Given the description of an element on the screen output the (x, y) to click on. 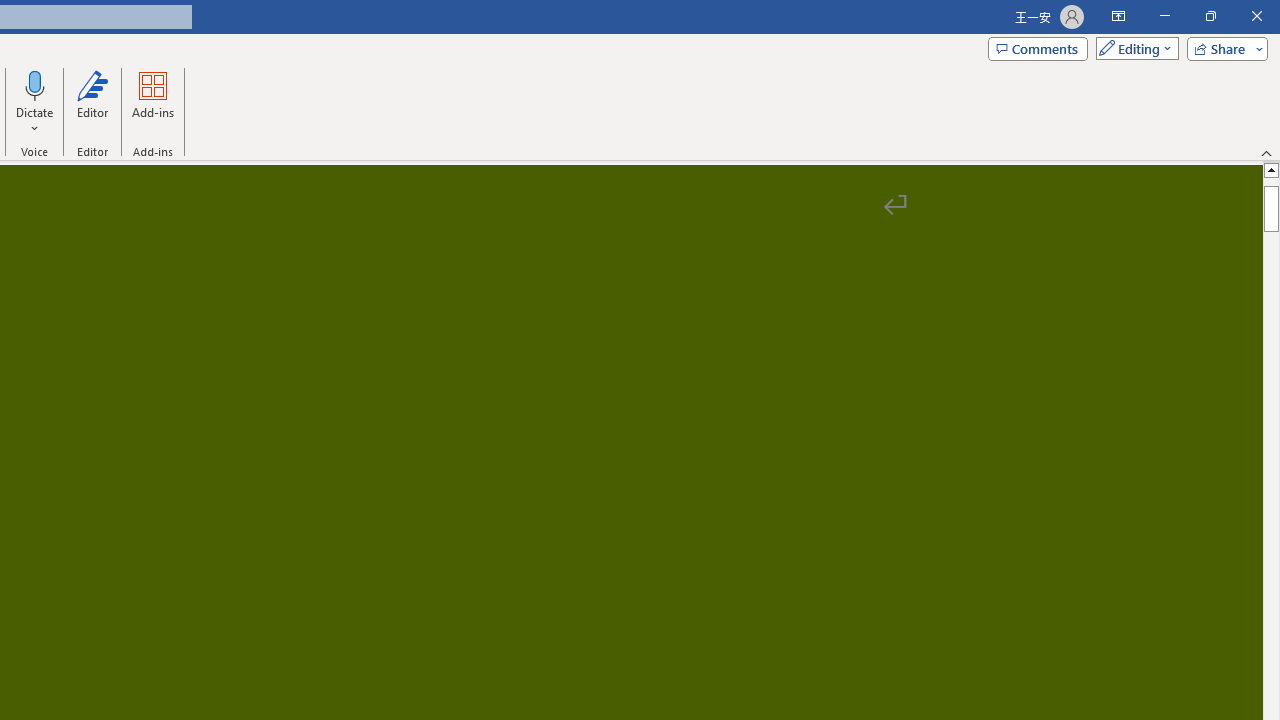
Page up (1271, 181)
Line up (1271, 169)
